Given the description of an element on the screen output the (x, y) to click on. 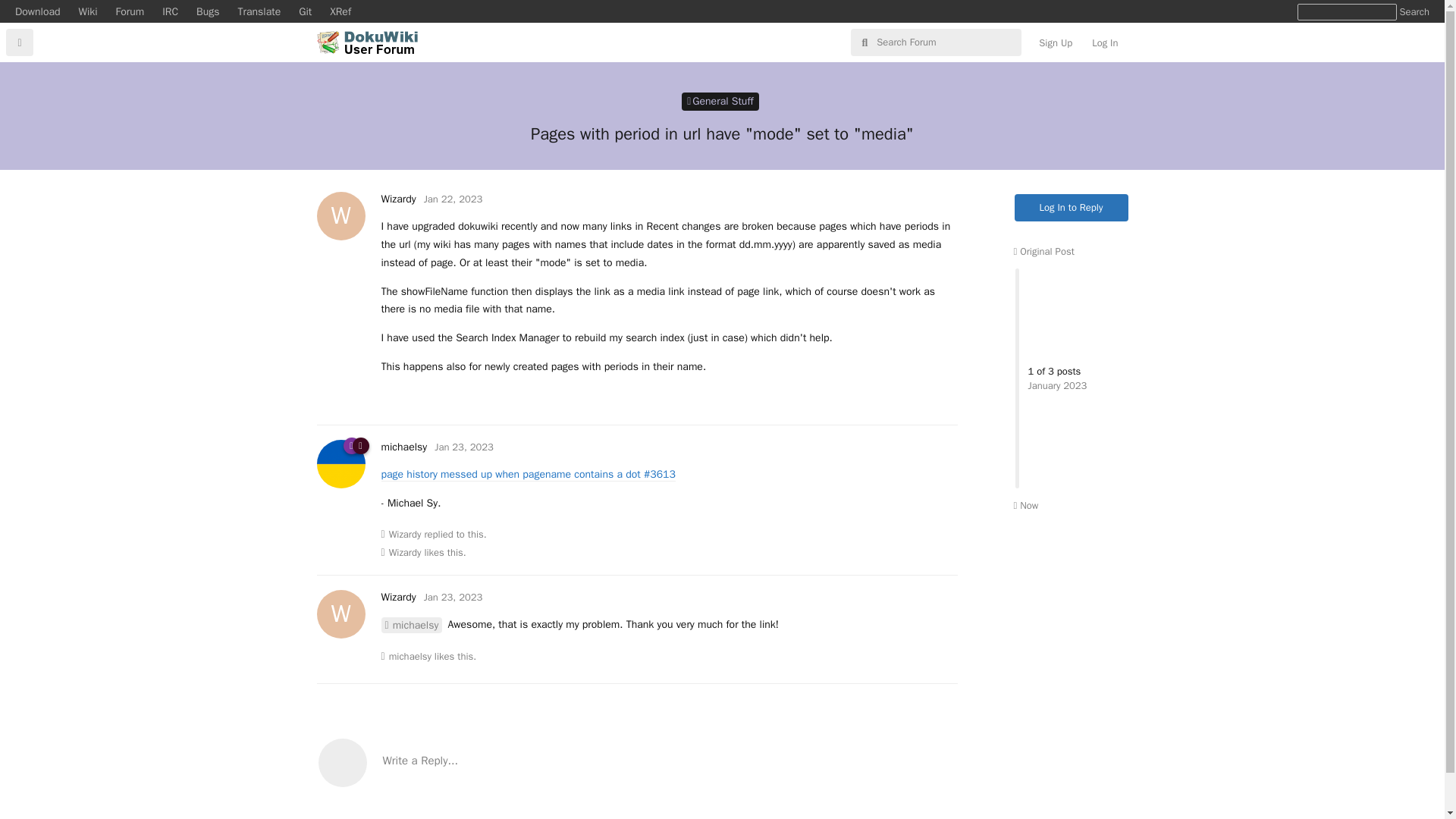
Report and track bugs (207, 11)
michaelsy (397, 198)
michaelsy (403, 446)
Search (411, 625)
Jan 22, 2023 (1414, 11)
Git (453, 198)
michaelsy (304, 11)
Original Post (409, 656)
Search all DokuWiki sites at once (1043, 250)
Download (1414, 11)
Wizardy (37, 11)
Log In to Reply (405, 534)
General Stuff (1071, 207)
IRC (719, 101)
